Given the description of an element on the screen output the (x, y) to click on. 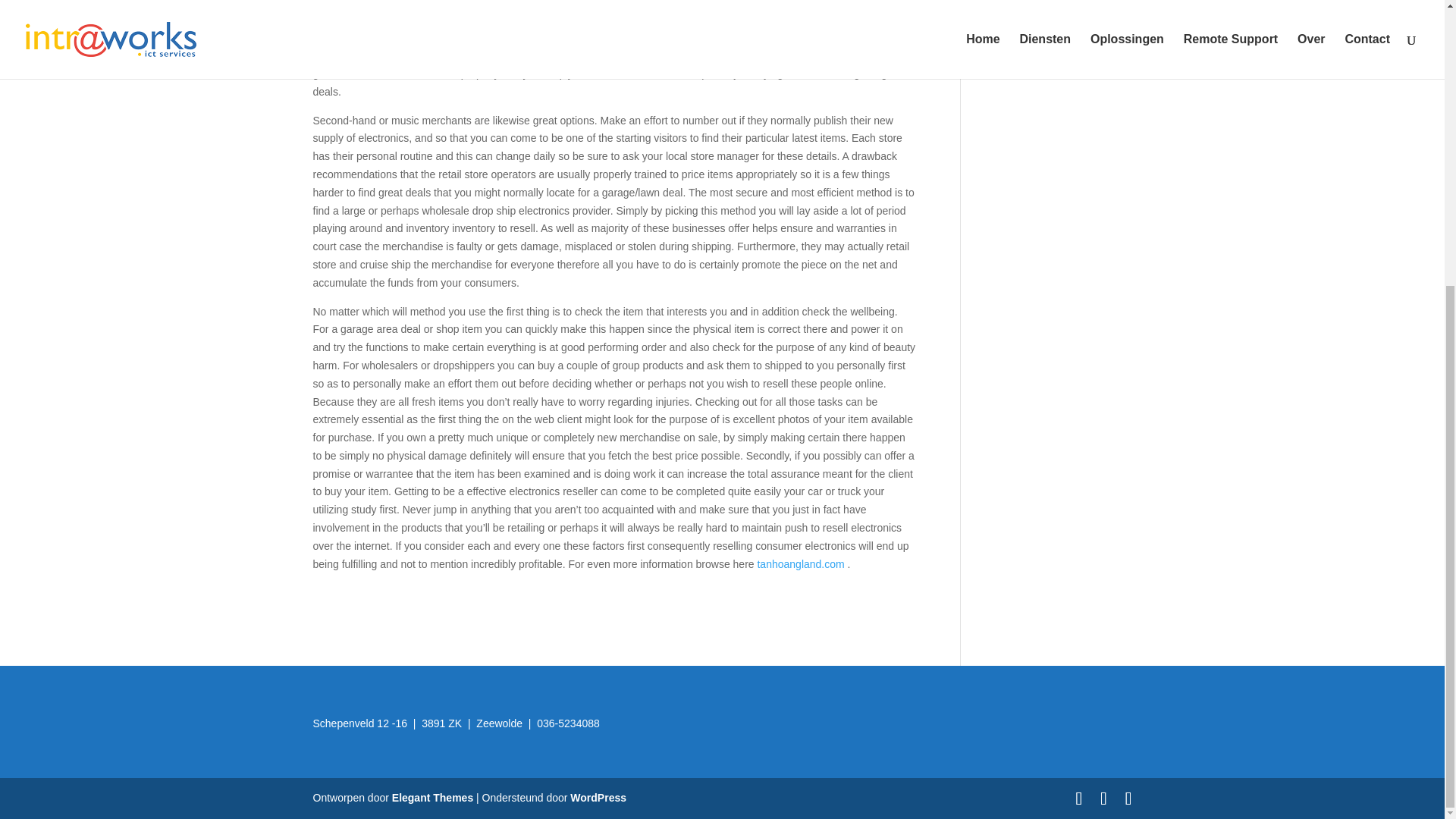
Premium WordPress Themes (432, 797)
WordPress (598, 797)
Elegant Themes (432, 797)
tanhoangland.com (800, 563)
